Given the description of an element on the screen output the (x, y) to click on. 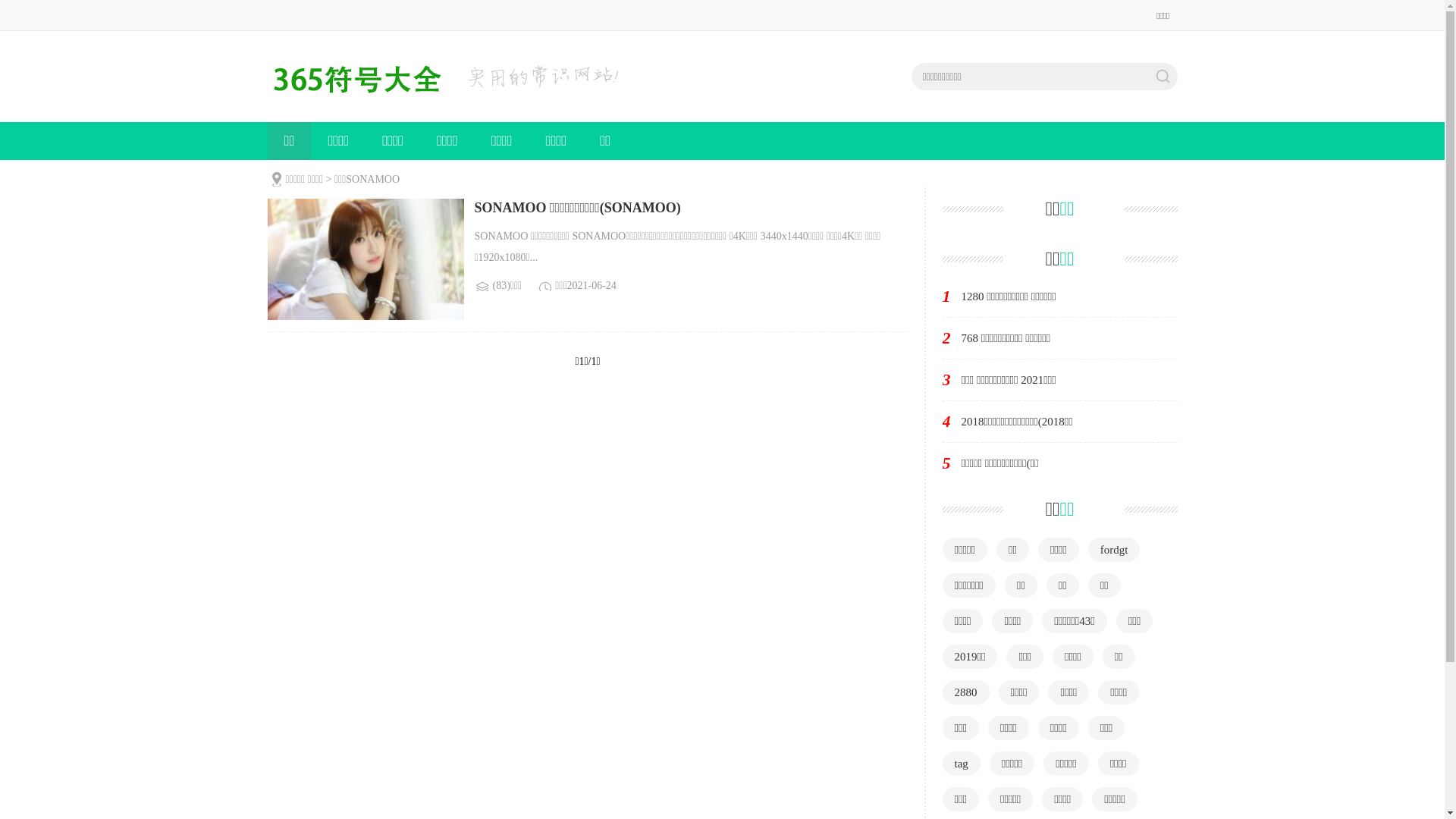
fordgt Element type: text (1114, 549)
tag Element type: text (960, 763)
2880 Element type: text (964, 692)
